Given the description of an element on the screen output the (x, y) to click on. 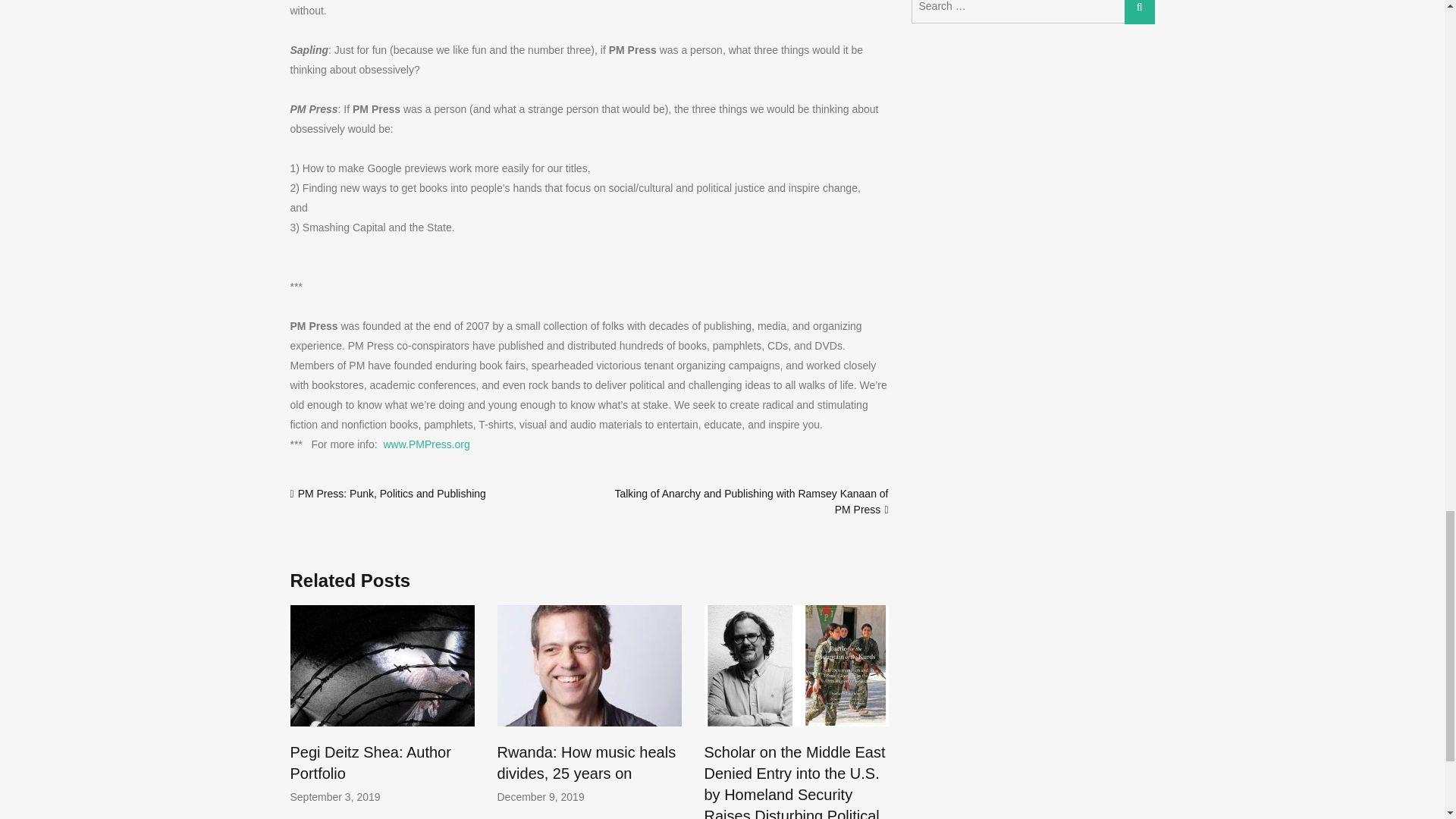
Pegi Deitz Shea: Author Portfolio (369, 762)
PM Press: Punk, Politics and Publishing (392, 493)
www.PMPress.org (425, 444)
Rwanda: How music heals divides, 25 years on (587, 762)
